Given the description of an element on the screen output the (x, y) to click on. 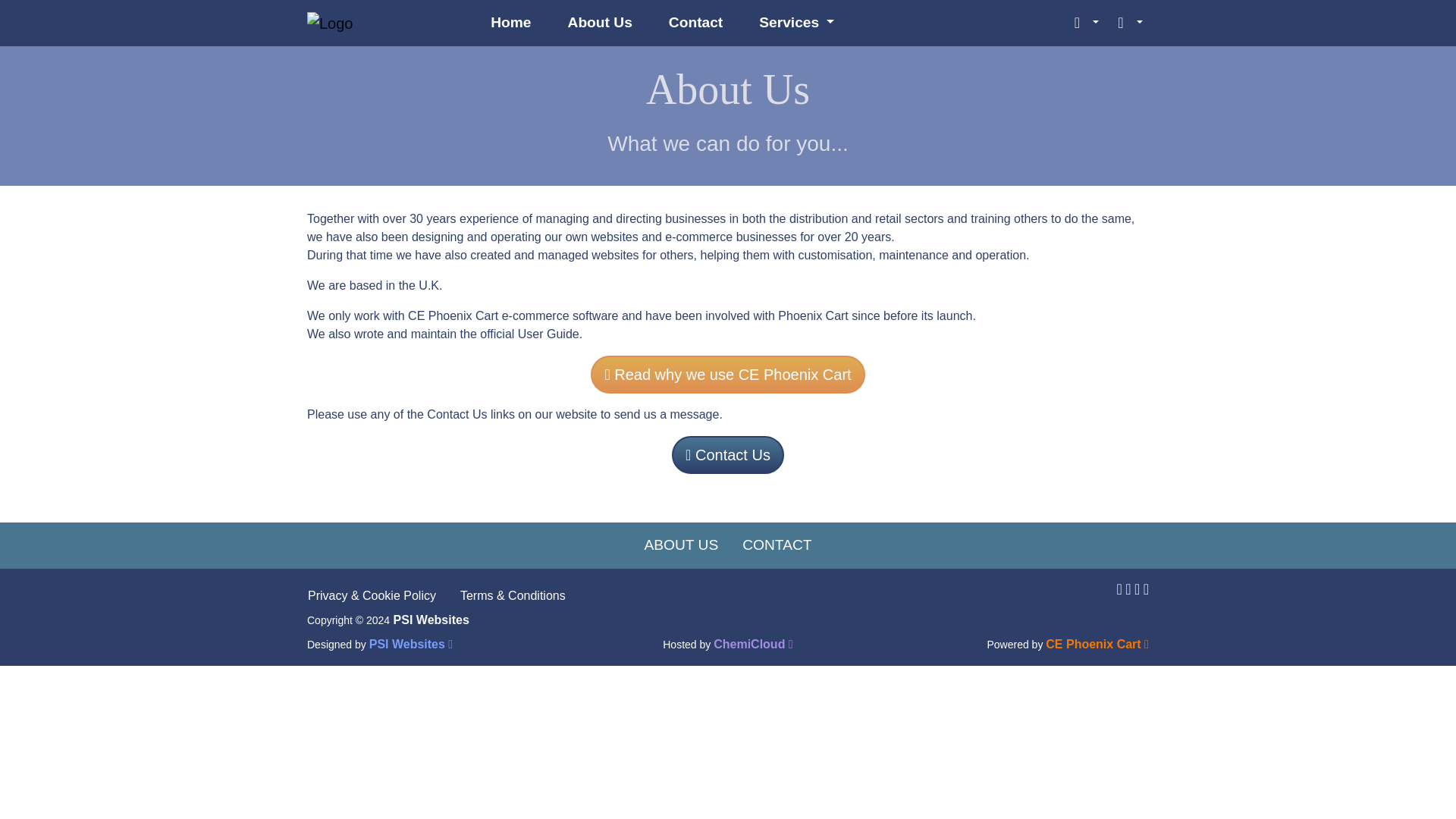
Logo (330, 23)
ChemiCloud (753, 644)
 Read why we use CE Phoenix Cart (727, 374)
Contact (695, 22)
ABOUT US (680, 545)
PSI Websites (430, 619)
Home (509, 22)
 Contact Us (727, 454)
Services (790, 22)
CONTACT (777, 545)
PSI Websites (410, 644)
About Us (600, 22)
CE Phoenix Cart (1096, 644)
